Given the description of an element on the screen output the (x, y) to click on. 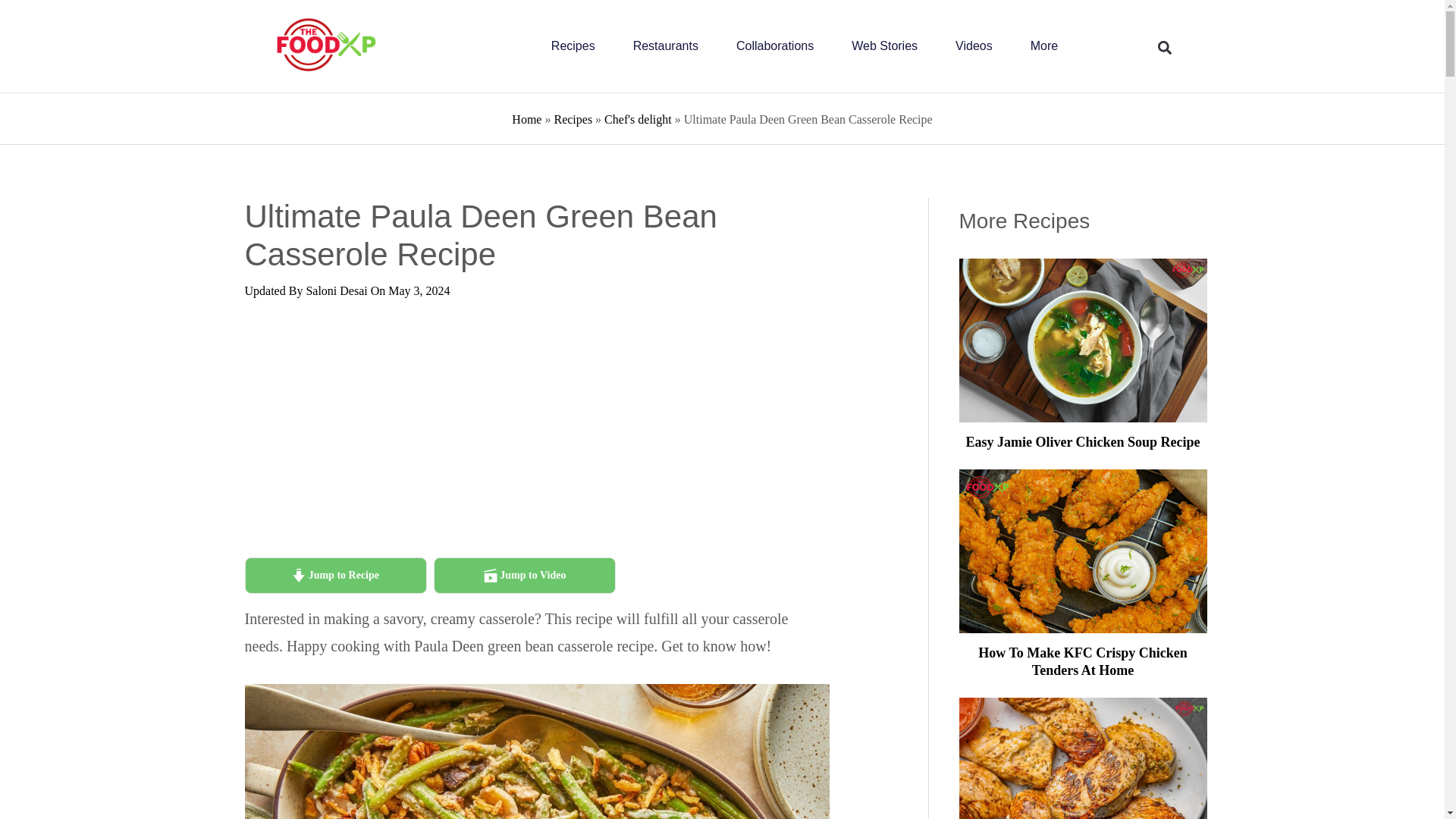
Recipes (573, 45)
Restaurants (665, 45)
Videos (973, 45)
Collaborations (774, 45)
Jump to Video (524, 575)
Web Stories (884, 45)
Jump to Recipe (335, 575)
